Given the description of an element on the screen output the (x, y) to click on. 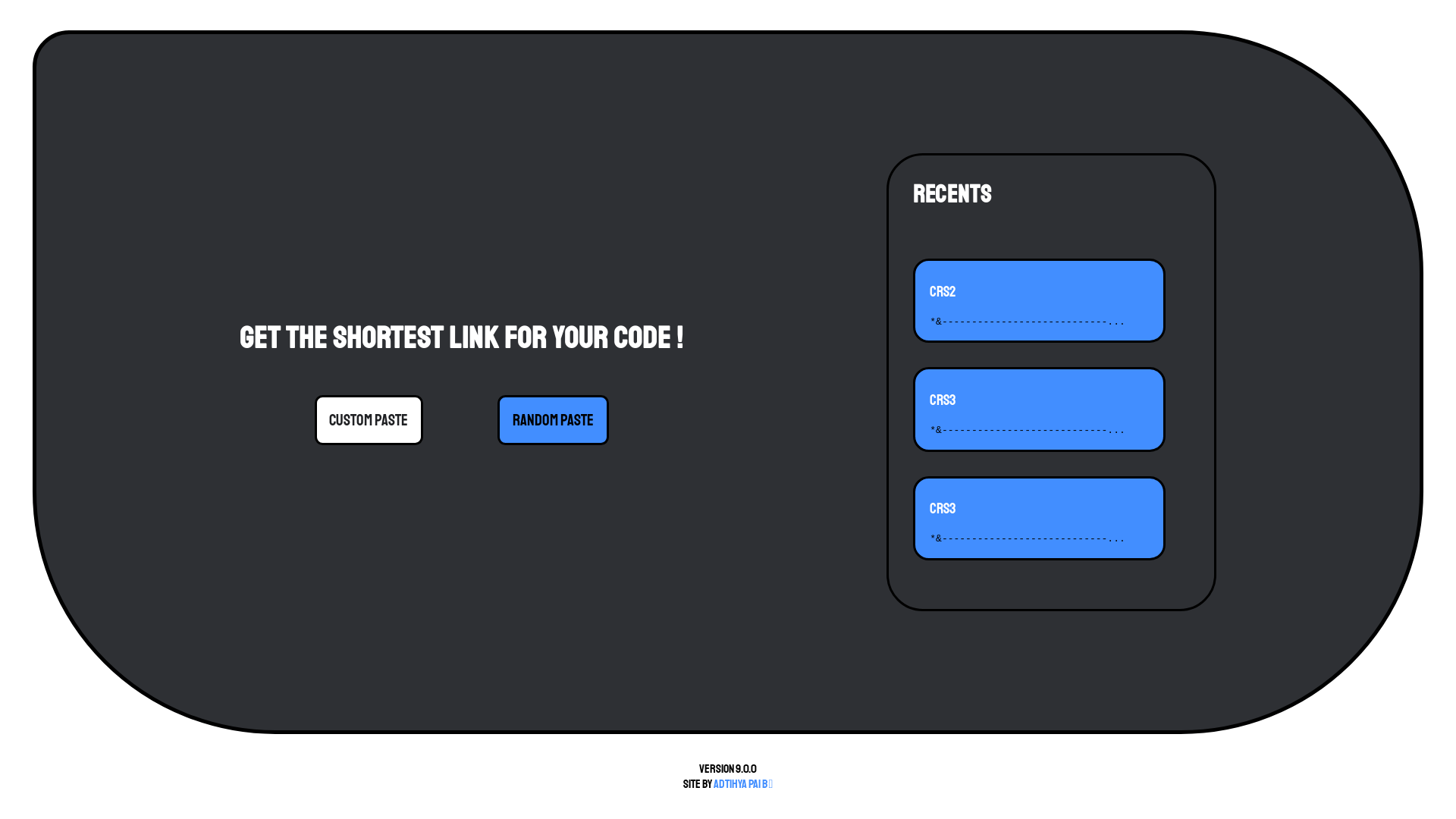
Random paste Element type: text (552, 419)
Custom paste Element type: text (368, 419)
